Given the description of an element on the screen output the (x, y) to click on. 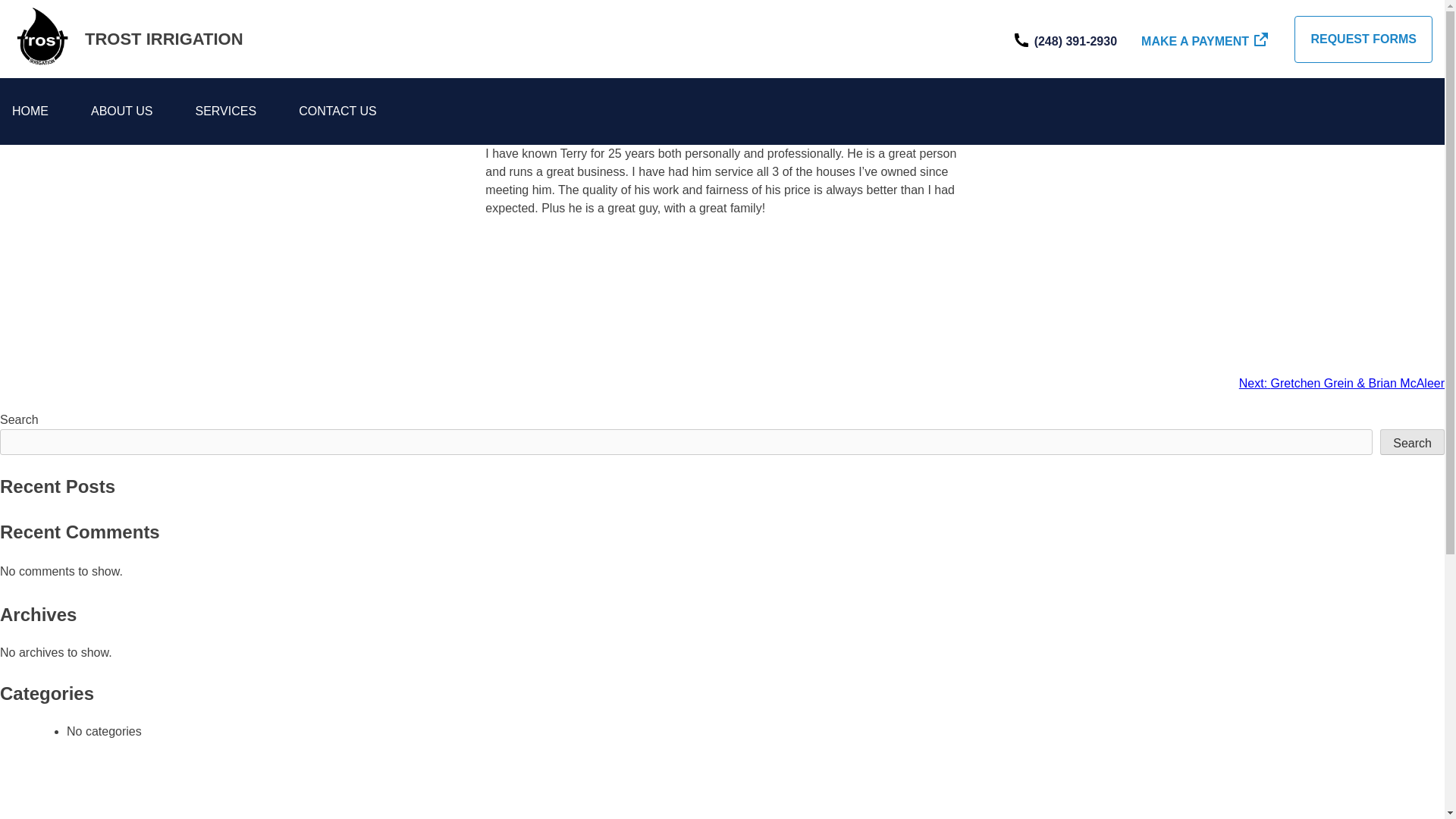
CONTACT US (337, 111)
SERVICES (226, 111)
ABOUT US (121, 111)
MAKE A PAYMENT (1205, 38)
HOME (29, 111)
TROST IRRIGATION (163, 38)
REQUEST FORMS (1363, 38)
